Given the description of an element on the screen output the (x, y) to click on. 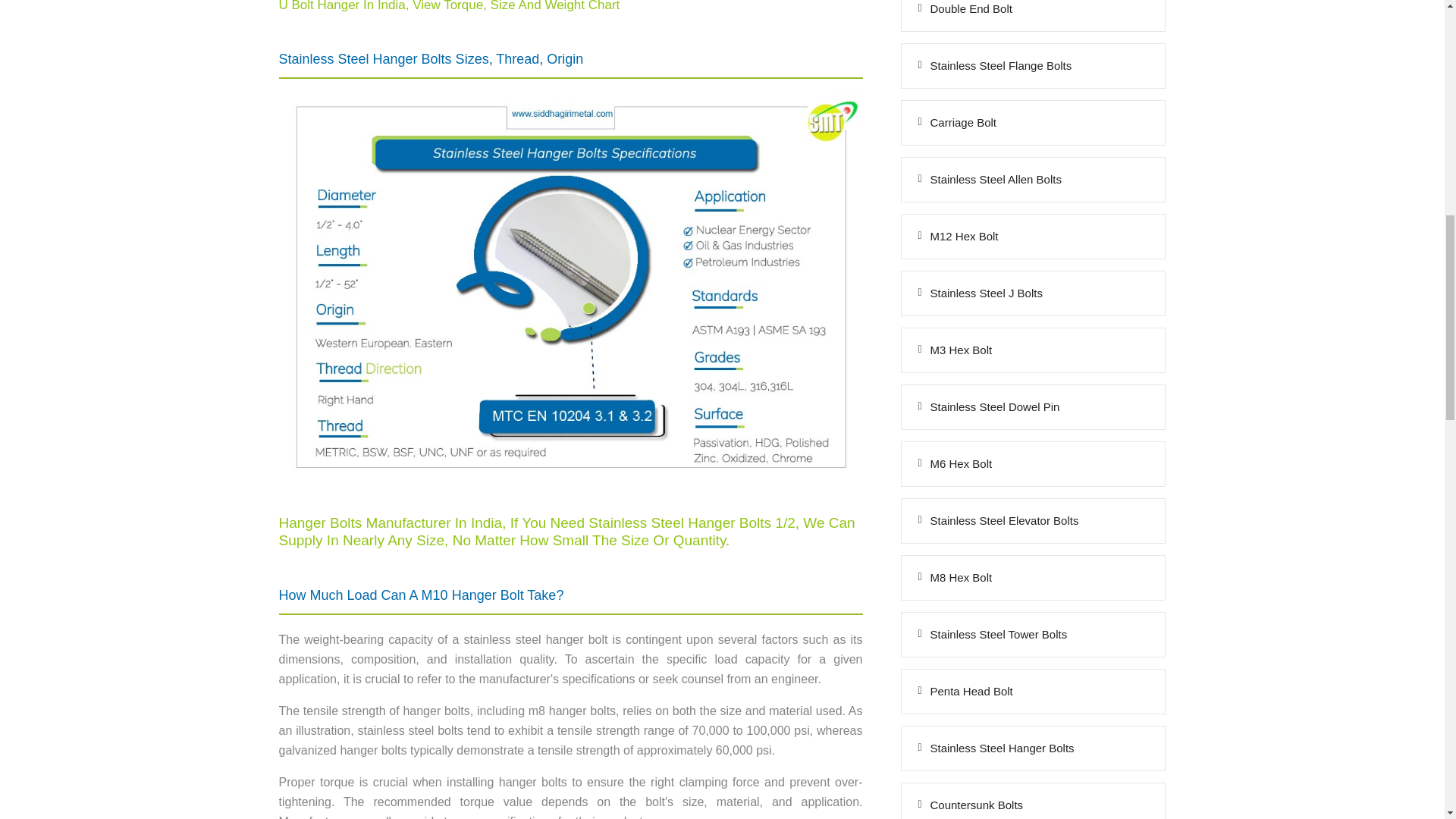
Carriage Bolt (1032, 122)
M12 Hex Bolt (1032, 236)
Stainless Steel Flange Bolts (1032, 65)
Stainless Steel Tower Bolts (1032, 634)
Penta Head Bolt (1032, 691)
Stainless Steel Elevator Bolts (1032, 520)
Double End Bolt (1032, 15)
Stainless Steel J Bolts (1032, 293)
Stainless Steel Allen Bolts (1032, 179)
